Given the description of an element on the screen output the (x, y) to click on. 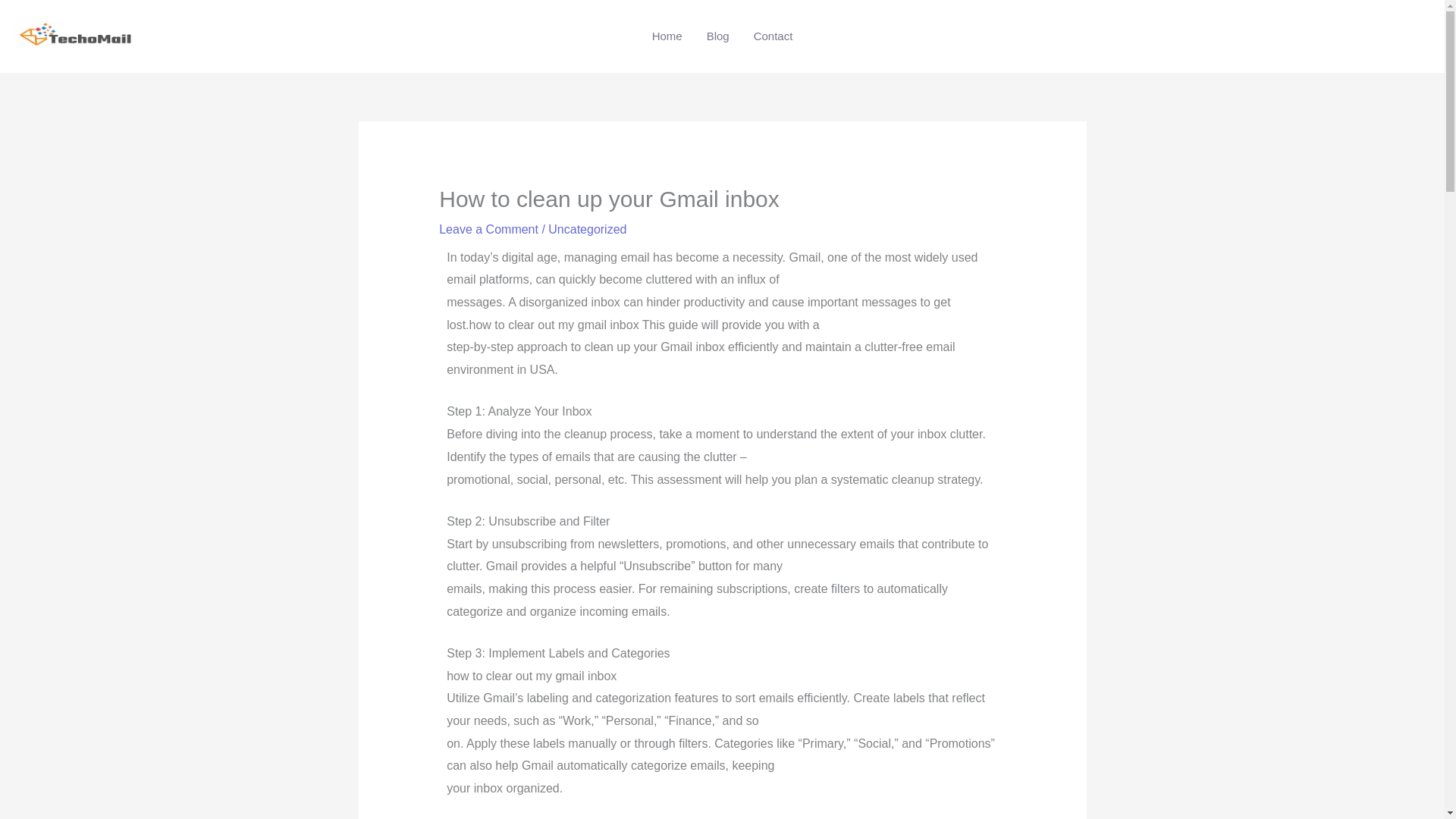
Contact (773, 36)
Uncategorized (587, 228)
Leave a Comment (488, 228)
Home (667, 36)
